Given the description of an element on the screen output the (x, y) to click on. 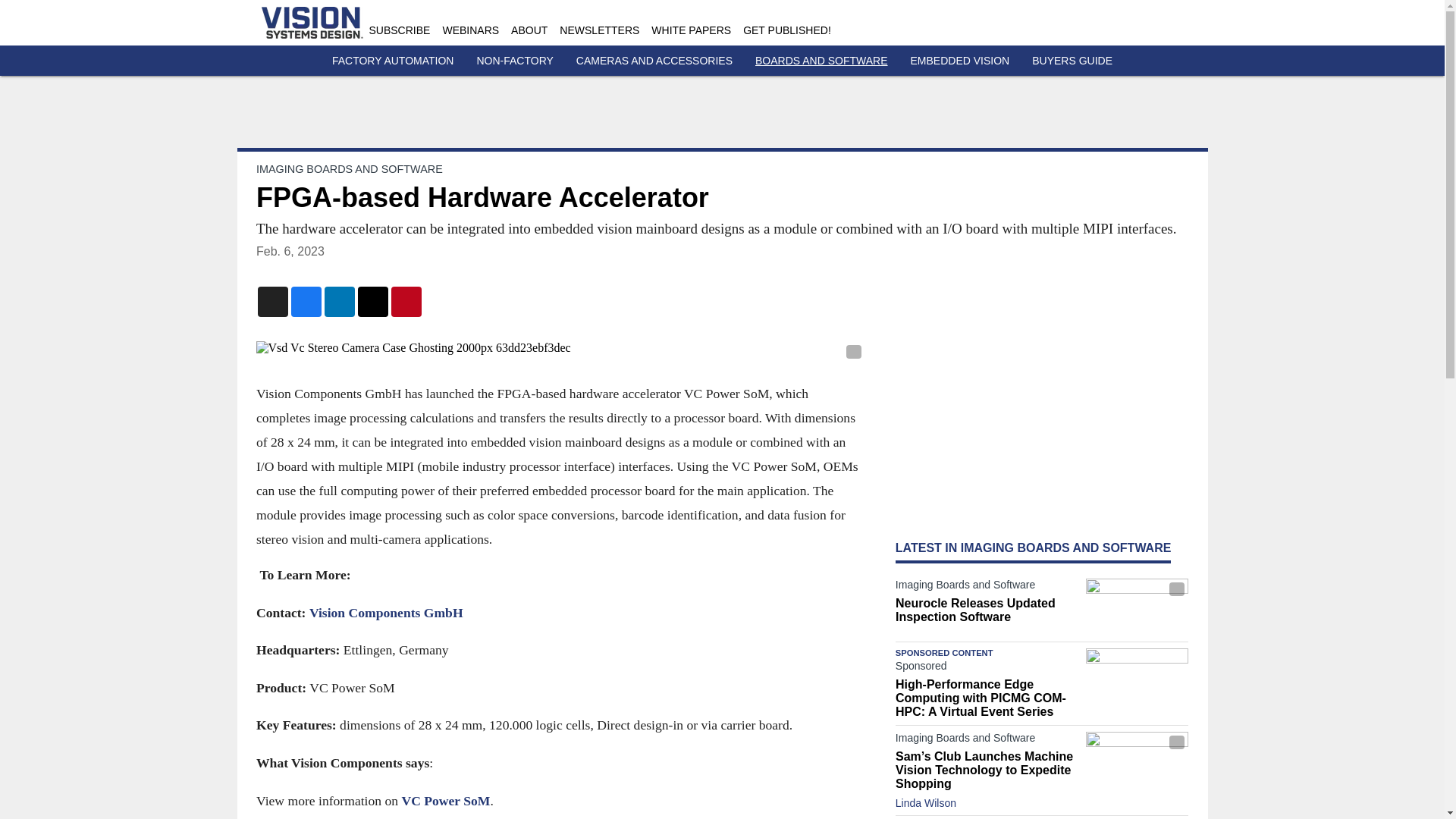
Imaging Boards and Software (986, 741)
SUBSCRIBE (398, 30)
Sponsored (986, 669)
VC Power SoM (445, 799)
NON-FACTORY (514, 60)
WEBINARS (470, 30)
Imaging Boards and Software (986, 587)
BUYERS GUIDE (1072, 60)
WHITE PAPERS (690, 30)
EMBEDDED VISION (960, 60)
CAMERAS AND ACCESSORIES (654, 60)
IMAGING BOARDS AND SOFTWARE (349, 168)
FACTORY AUTOMATION (392, 60)
NEWSLETTERS (599, 30)
Vsd Vc Stereo Camera Case Ghosting 2000px 63dd23ebf3dec (560, 347)
